Given the description of an element on the screen output the (x, y) to click on. 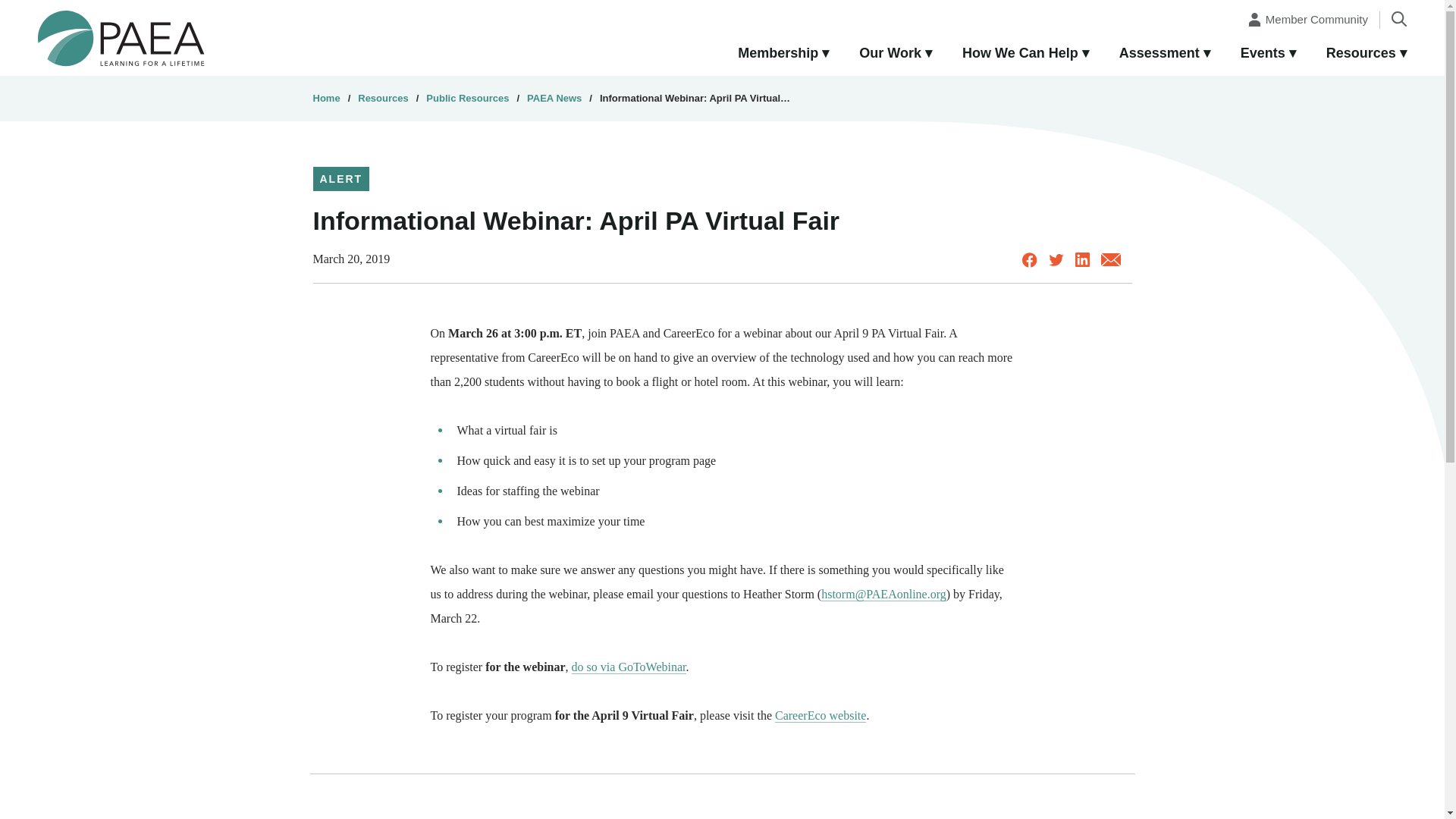
Our Work (895, 53)
homepage (121, 37)
Membership (783, 53)
